Given the description of an element on the screen output the (x, y) to click on. 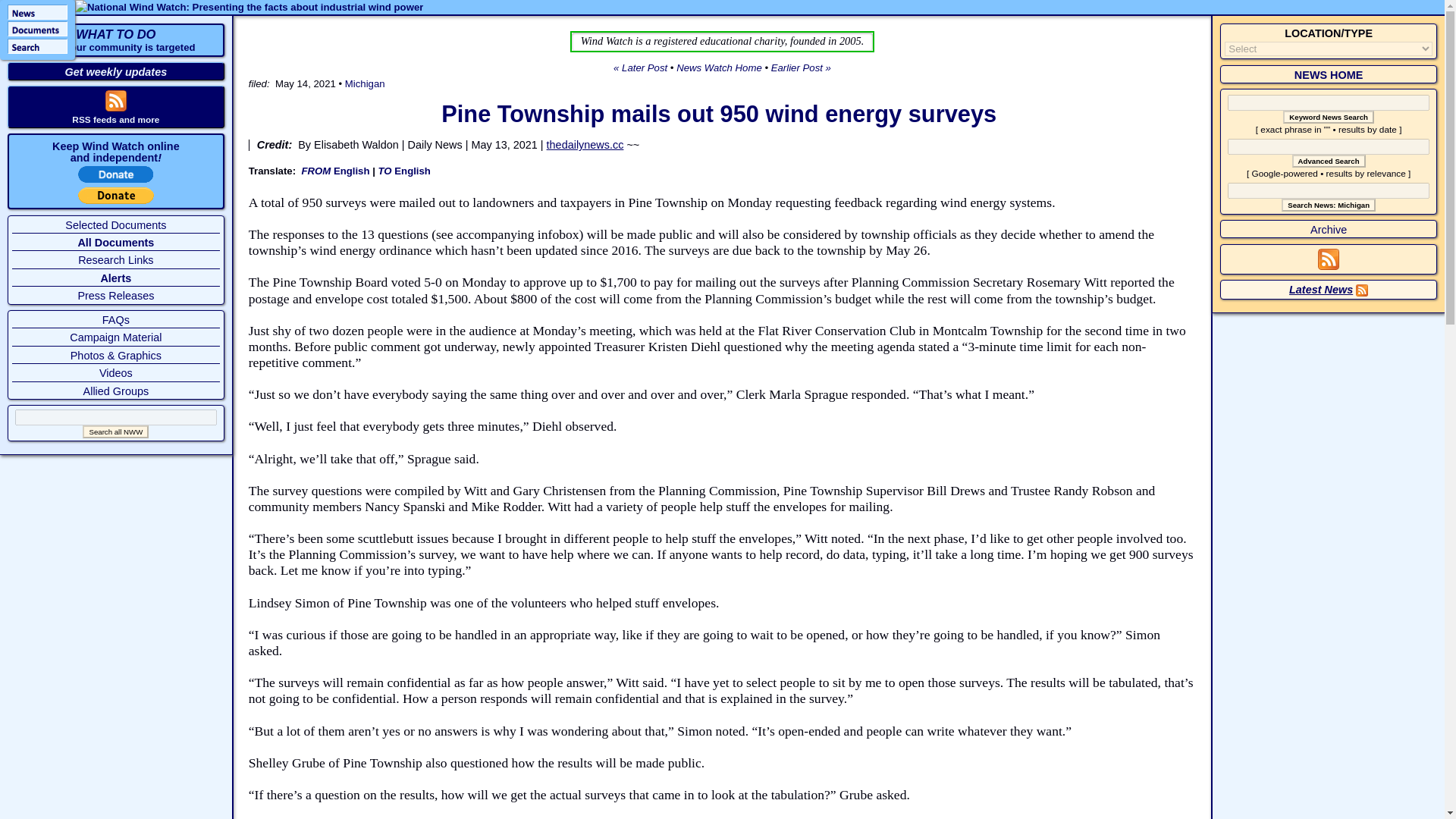
Michigan (365, 83)
Wind Watch News Feeds (1328, 265)
Advanced Search (1328, 160)
Donate via Paypal (116, 200)
Latest News (1320, 289)
Pine Township mails out 950 wind energy surveys (718, 113)
Search News: Michigan (1328, 205)
Advanced Search (1328, 160)
Donate via Stripe (116, 178)
Keyword News Search (1328, 116)
Pine Township mails out 950 wind energy surveys (718, 113)
RSS feeds and more (114, 119)
Keyword News Search (115, 40)
NEWS HOME (1328, 116)
